Given the description of an element on the screen output the (x, y) to click on. 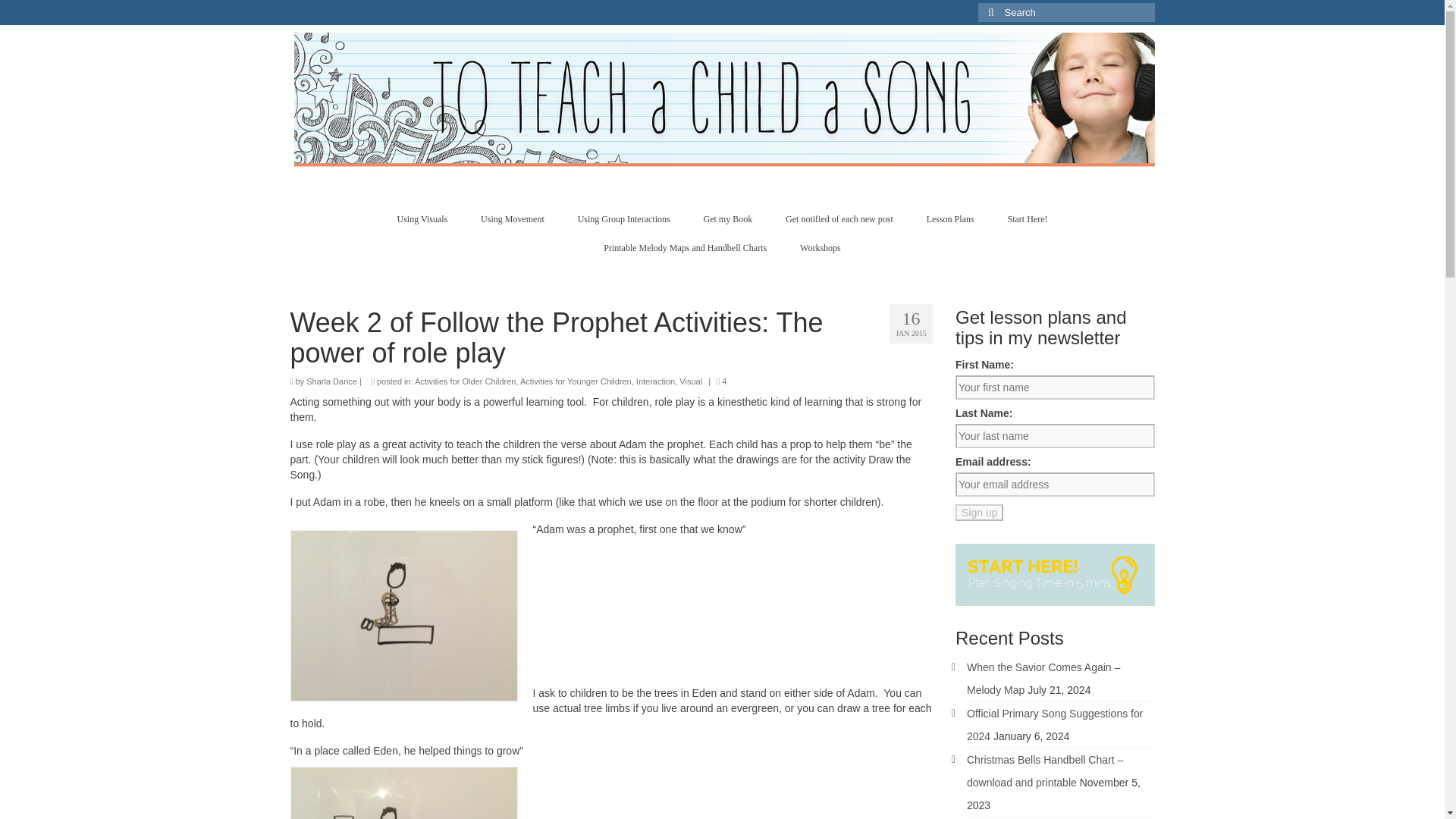
Printable Melody Maps and Handbell Charts (684, 247)
Get notified of each new post (839, 218)
Sharla Dance (330, 380)
Sign up (979, 512)
Workshops (820, 247)
Interaction (655, 380)
Using Movement (512, 218)
Visual (690, 380)
Using Group Interactions (623, 218)
Start Here! (1027, 218)
